Given the description of an element on the screen output the (x, y) to click on. 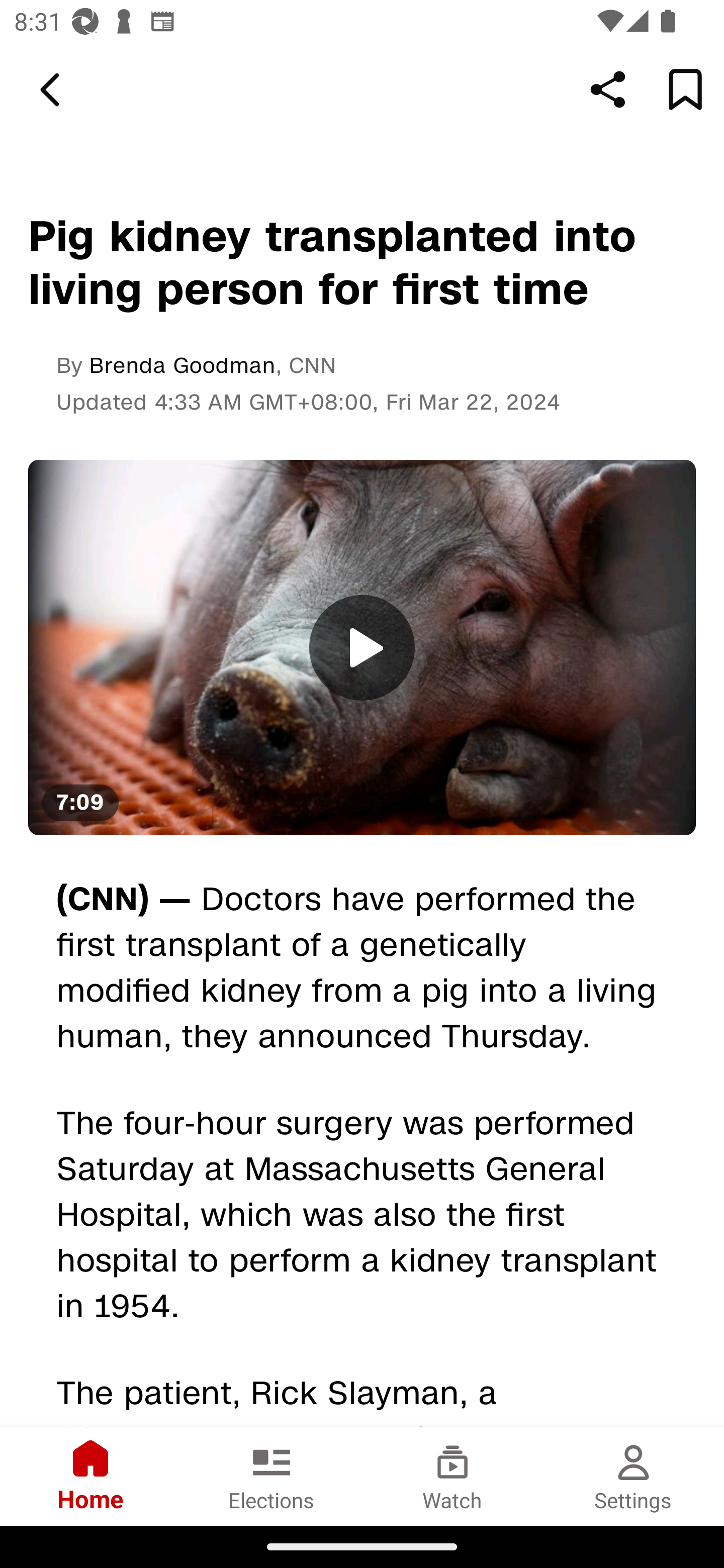
Back Button (52, 89)
Share (607, 89)
Bookmark (685, 89)
Elections (271, 1475)
Watch (452, 1475)
Settings (633, 1475)
